Given the description of an element on the screen output the (x, y) to click on. 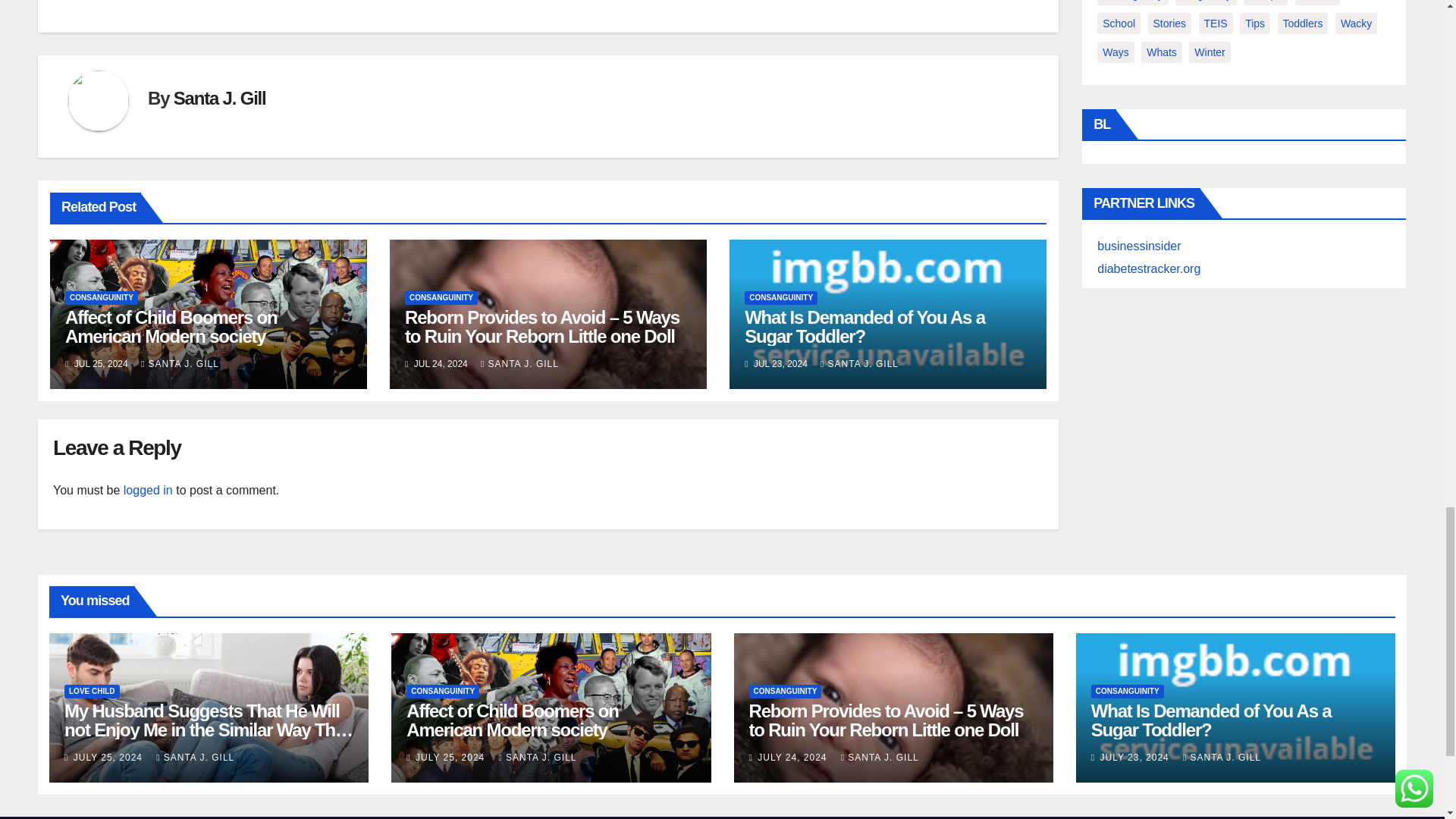
Santa J. Gill (219, 97)
Affect of Child Boomers on American Modern society (170, 326)
CONSANGUINITY (101, 297)
